Given the description of an element on the screen output the (x, y) to click on. 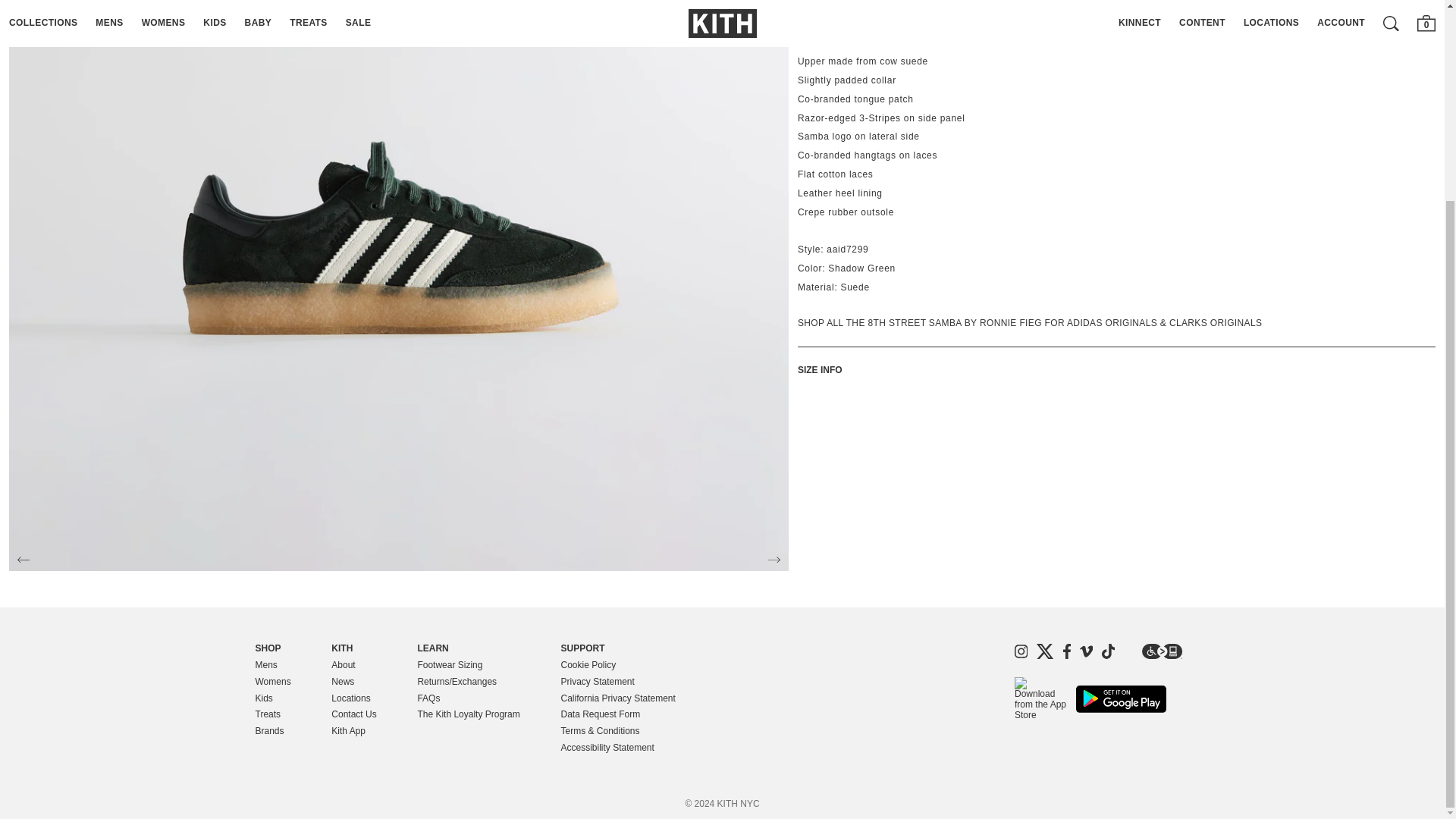
Vimeo (1086, 651)
Vimeo (1086, 651)
essential Accessibility Icon (1161, 651)
X (1044, 651)
Instagram (1020, 651)
X (1044, 651)
Tiktok (1108, 651)
Facebook (1066, 651)
Instagram (1020, 651)
Facebook (1066, 651)
TikTok (1108, 651)
